Given the description of an element on the screen output the (x, y) to click on. 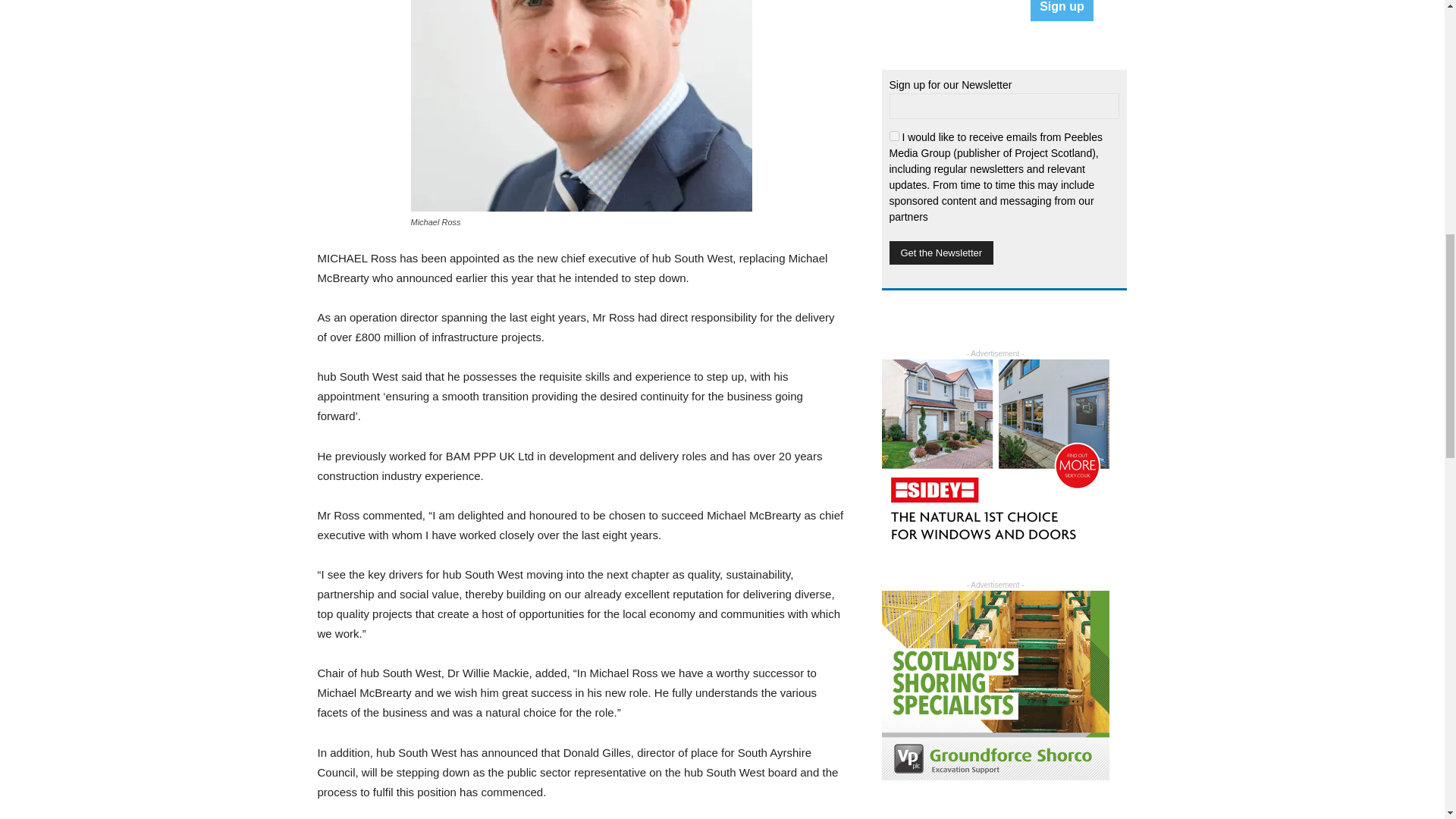
on (893, 135)
Get the Newsletter (940, 252)
